Given the description of an element on the screen output the (x, y) to click on. 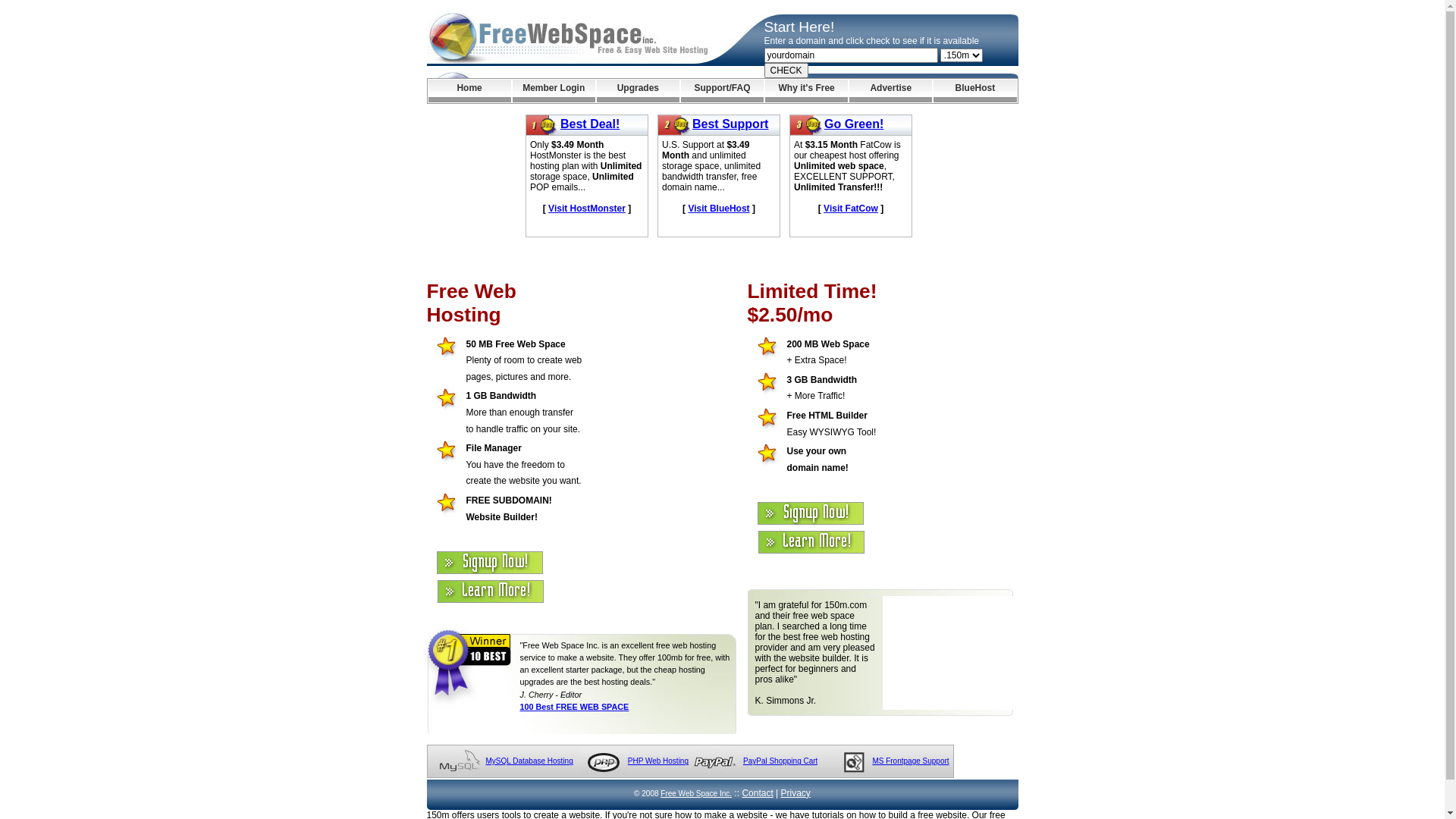
Why it's Free Element type: text (806, 90)
MS Frontpage Support Element type: text (910, 760)
BlueHost Element type: text (974, 90)
Support/FAQ Element type: text (721, 90)
100 Best FREE WEB SPACE Element type: text (574, 706)
PayPal Shopping Cart Element type: text (780, 760)
Member Login Element type: text (553, 90)
Advertise Element type: text (890, 90)
MySQL Database Hosting Element type: text (528, 760)
Free Web Space Inc. Element type: text (695, 793)
Privacy Element type: text (795, 792)
Contact Element type: text (756, 792)
Upgrades Element type: text (637, 90)
PHP Web Hosting Element type: text (657, 760)
CHECK Element type: text (786, 70)
Home Element type: text (468, 90)
